Given the description of an element on the screen output the (x, y) to click on. 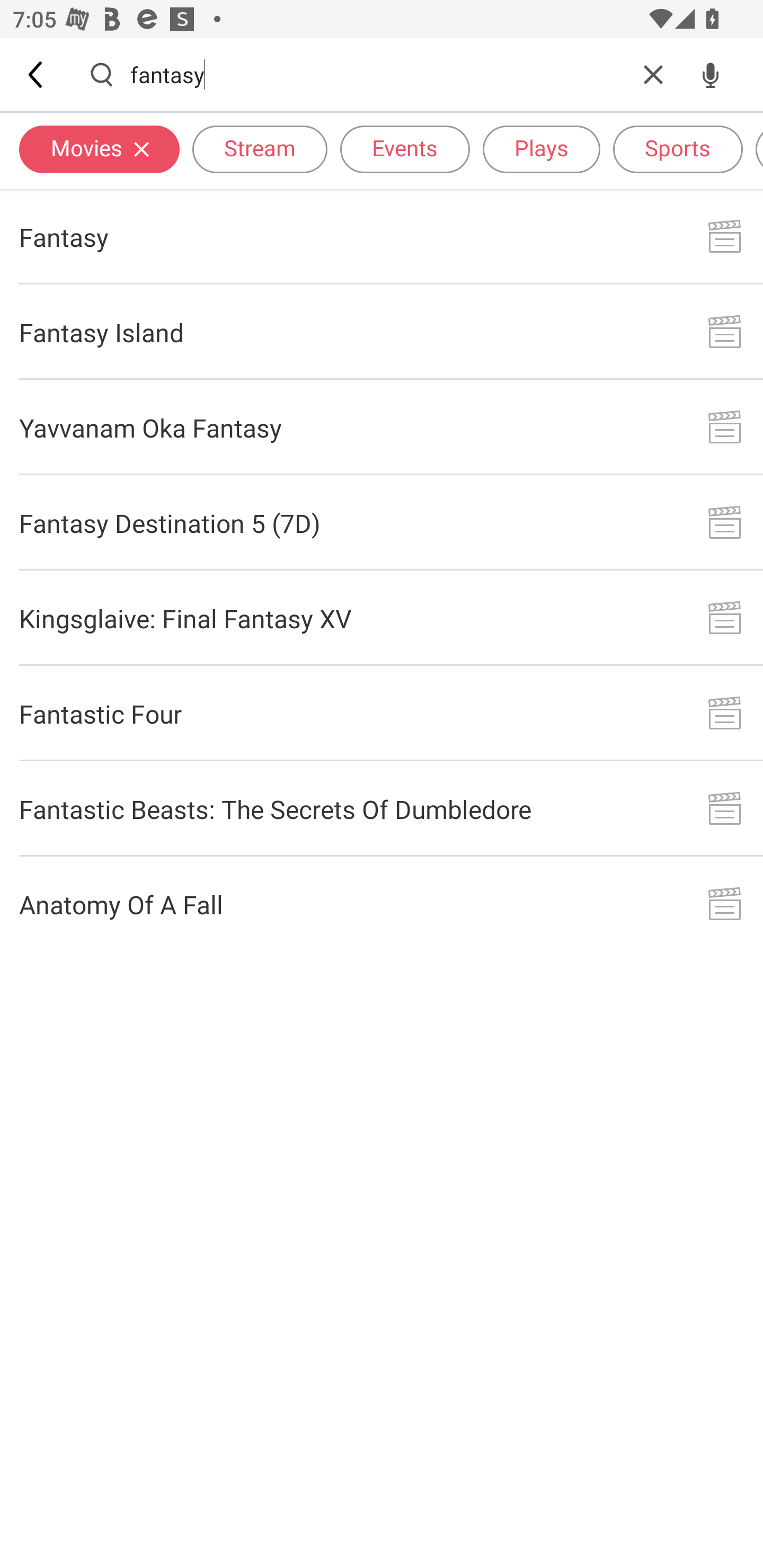
Back (36, 74)
fantasy (377, 74)
Clear (653, 74)
Movies Clear (99, 148)
Stream (259, 148)
Events (405, 148)
Plays (541, 148)
Sports (677, 148)
Fantasy (381, 236)
Fantasy Island (381, 331)
Yavvanam Oka Fantasy (381, 427)
Fantasy Destination 5 (7D) (381, 522)
Kingsglaive: Final Fantasy XV (381, 618)
Fantastic Four (381, 713)
Fantastic Beasts: The Secrets Of Dumbledore (381, 808)
Anatomy Of A Fall (381, 903)
